Given the description of an element on the screen output the (x, y) to click on. 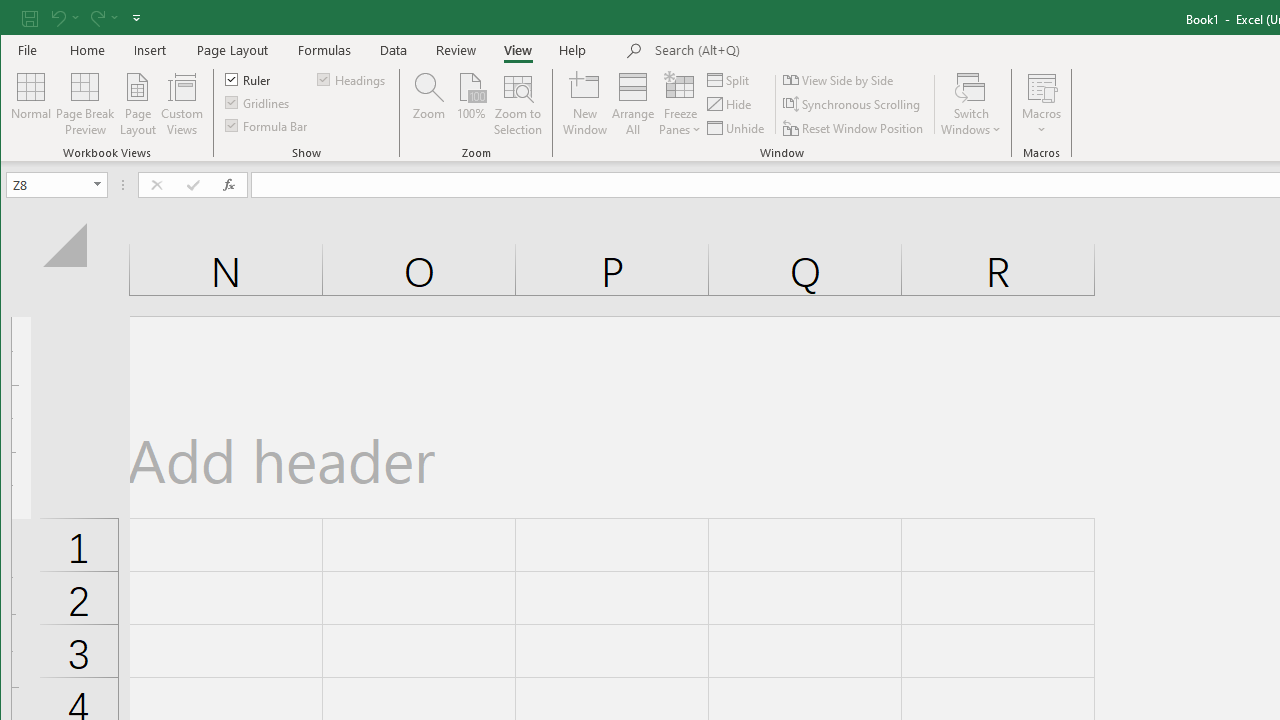
View Macros (1041, 86)
100% (470, 104)
Headings (352, 78)
Unhide... (737, 127)
Reset Window Position (854, 127)
Zoom to Selection (518, 104)
Ruler (248, 78)
